Given the description of an element on the screen output the (x, y) to click on. 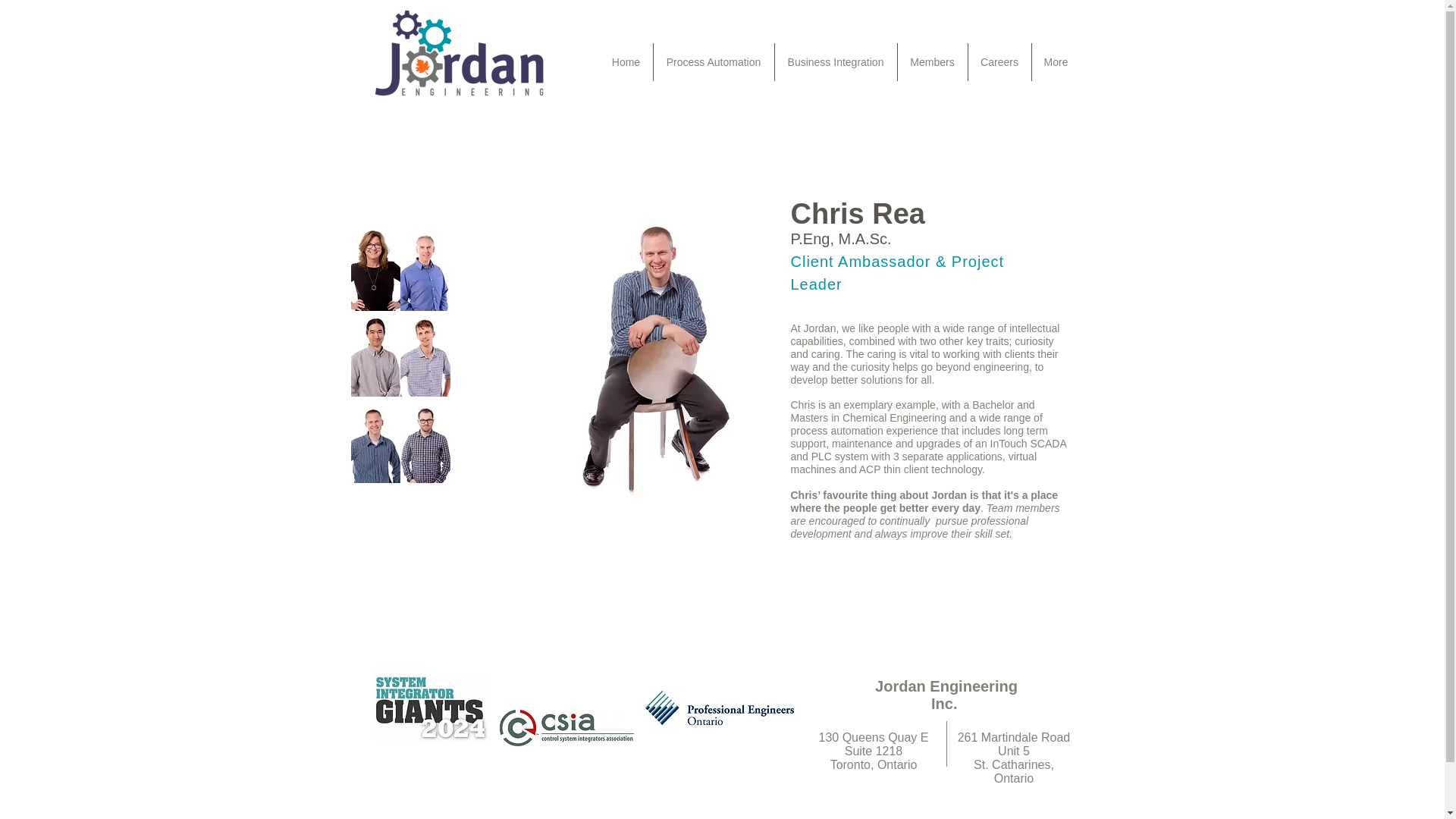
LOGO 4C.png (458, 52)
Home (625, 62)
Members (933, 62)
Careers (999, 62)
Business Integration (835, 62)
Process Automation (713, 62)
